Given the description of an element on the screen output the (x, y) to click on. 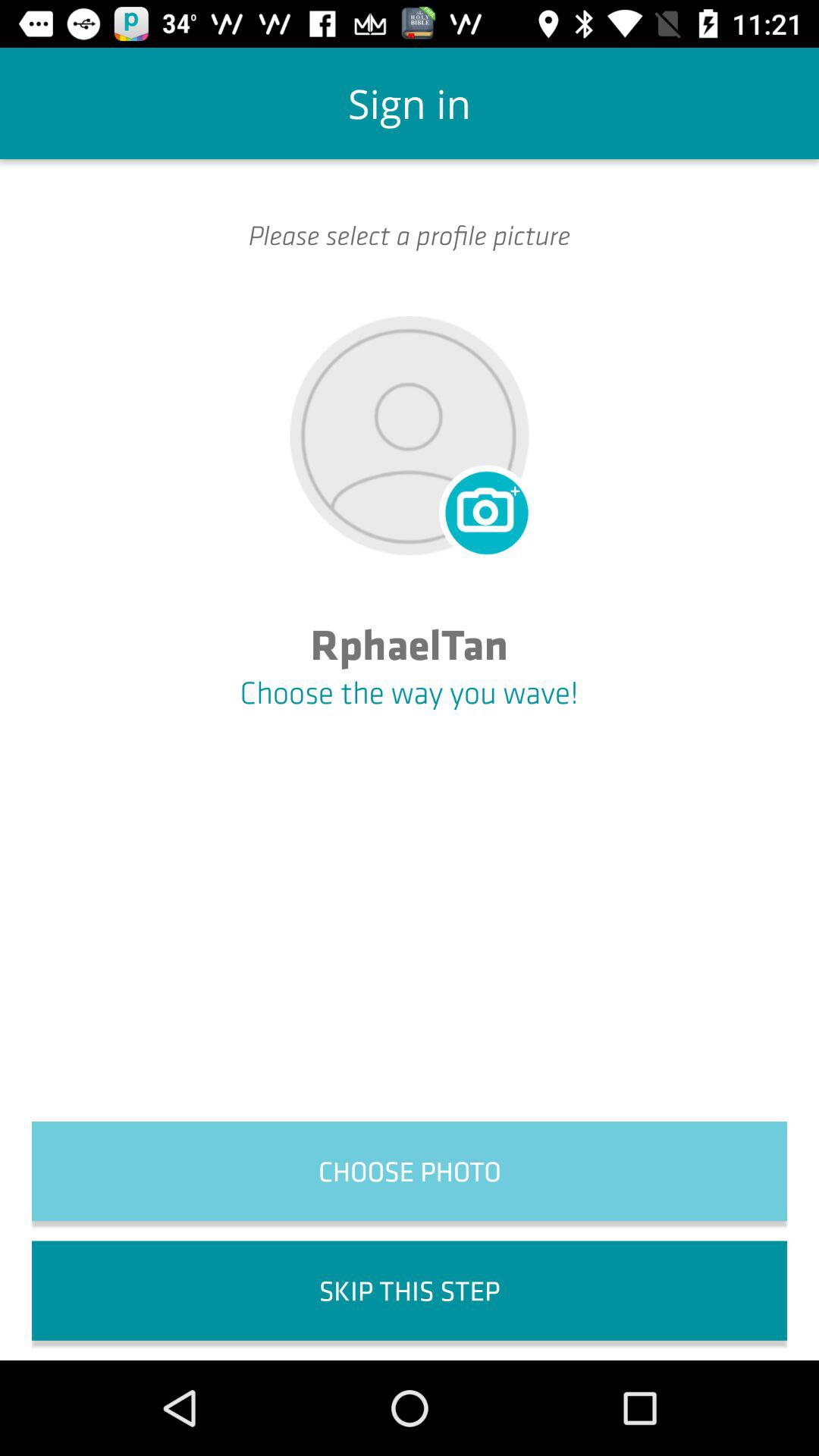
click skip this step icon (409, 1290)
